Given the description of an element on the screen output the (x, y) to click on. 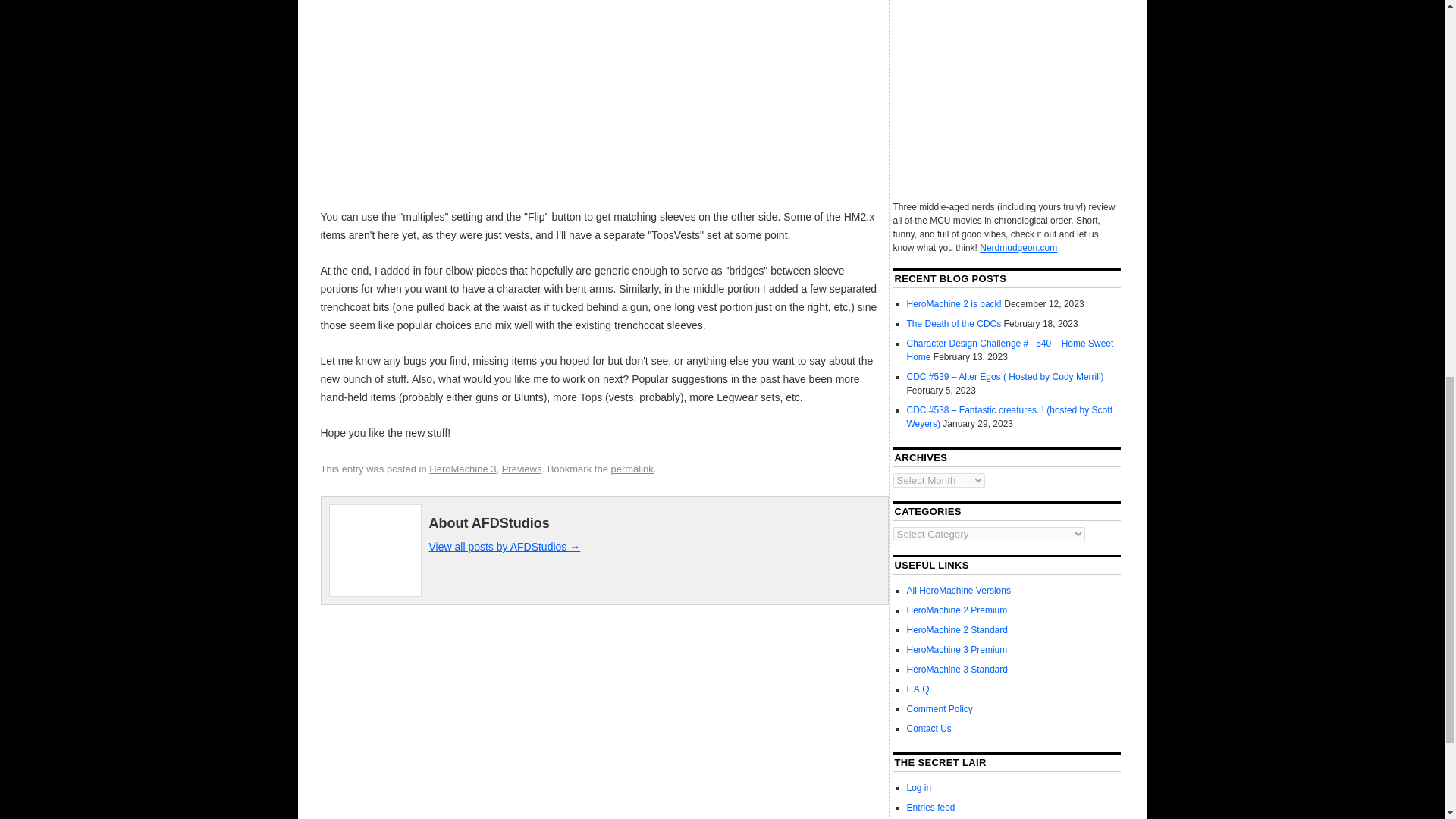
HeroMachine 2 is back! (954, 303)
tops-coats (601, 101)
HeroMachine 2 Standard (957, 629)
Nerdmudgeon.com (1018, 247)
permalink (631, 469)
Permalink to HM3: Coats soothe, relieve (631, 469)
HeroMachine 2 Premium (957, 610)
HeroMachine 3 (462, 469)
All HeroMachine Versions (958, 590)
F.A.Q. (919, 688)
